Given the description of an element on the screen output the (x, y) to click on. 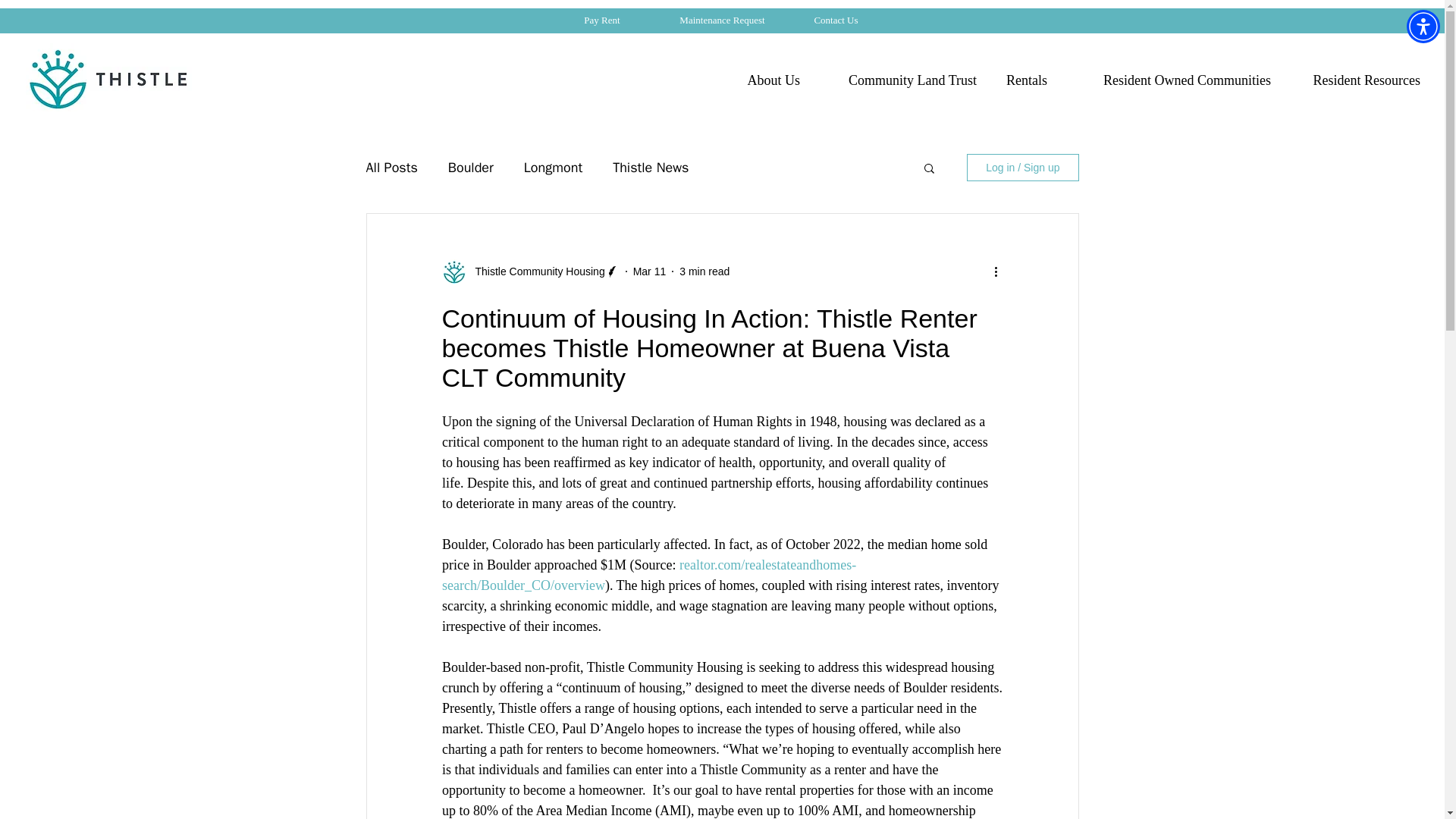
Thistle News (650, 167)
Resident Owned Communities (1170, 80)
Accessibility Menu (1422, 26)
About Us (769, 80)
Longmont (553, 167)
Boulder (470, 167)
All Posts (390, 167)
Thistle Community Housing  (534, 271)
Pay Rent (602, 19)
Rentals (1023, 80)
Mar 11 (649, 271)
Contact Us (836, 20)
Maintenance Request (721, 20)
3 min read (704, 271)
Resident Resources (1356, 80)
